Given the description of an element on the screen output the (x, y) to click on. 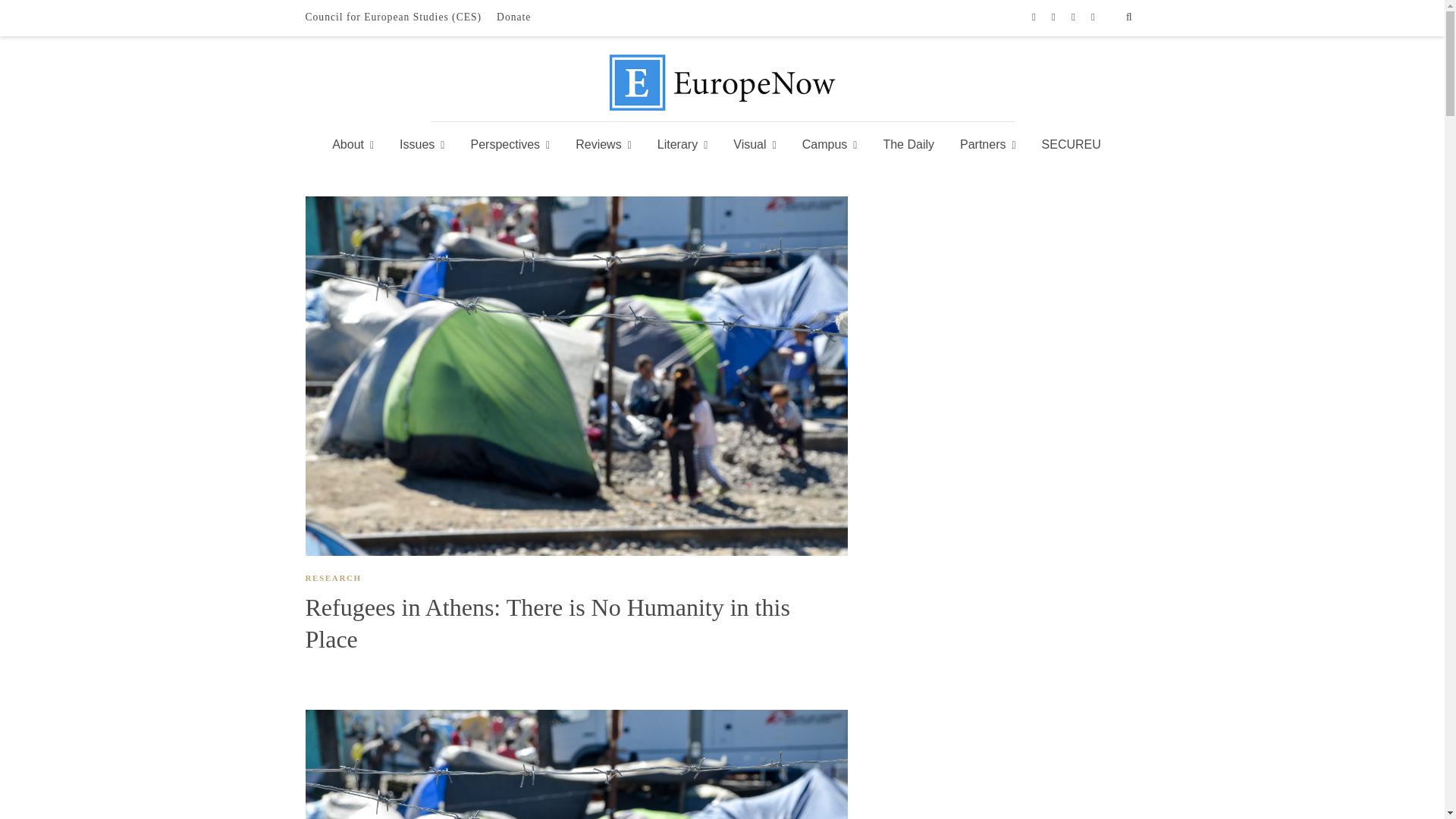
Perspectives (509, 145)
Visual (754, 145)
EuropeNow (721, 107)
Donate (513, 17)
Literary (682, 145)
Issues (421, 145)
About (358, 145)
Reviews (603, 145)
